Given the description of an element on the screen output the (x, y) to click on. 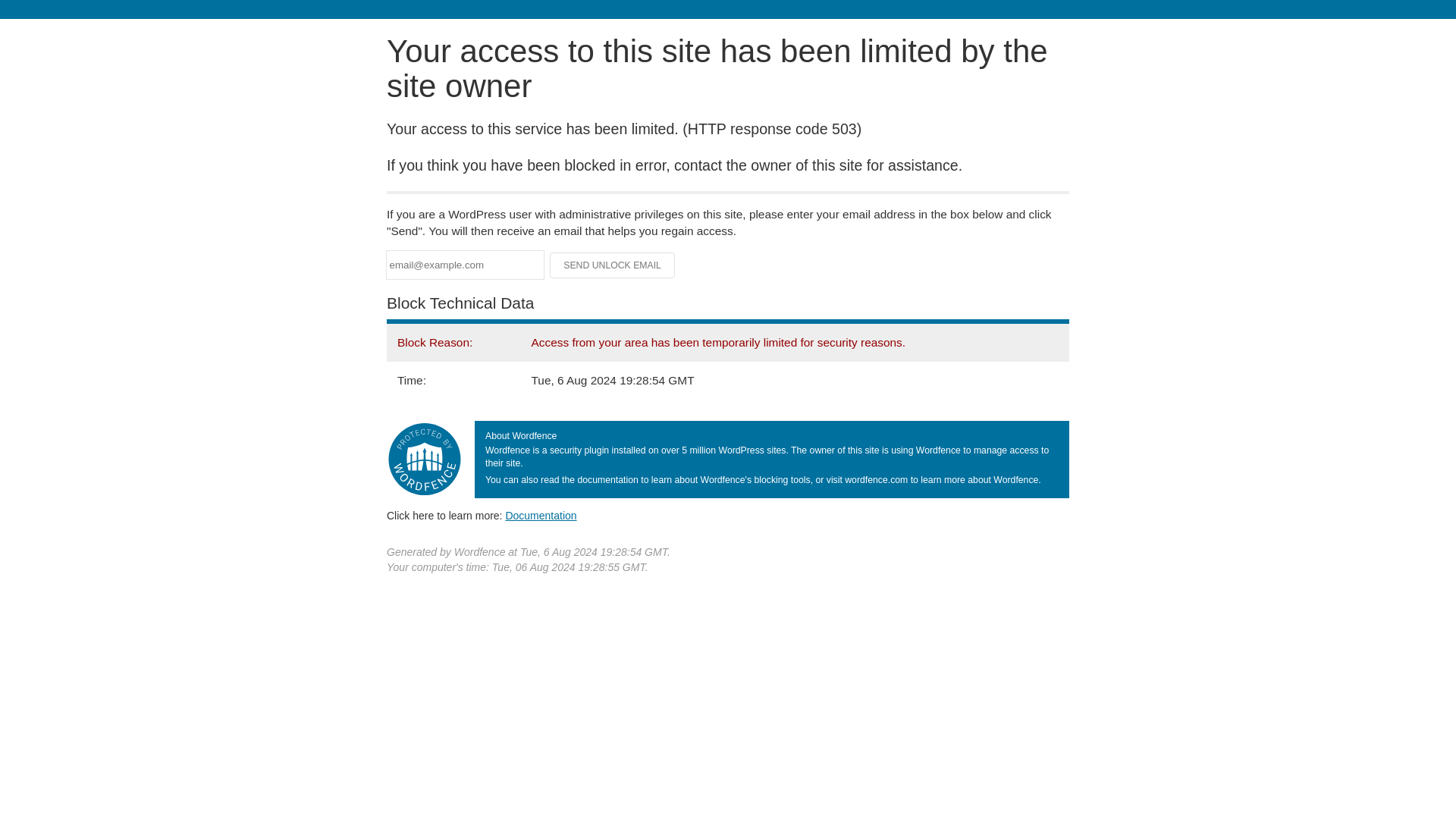
Send Unlock Email (612, 265)
Send Unlock Email (612, 265)
Documentation (540, 515)
